Given the description of an element on the screen output the (x, y) to click on. 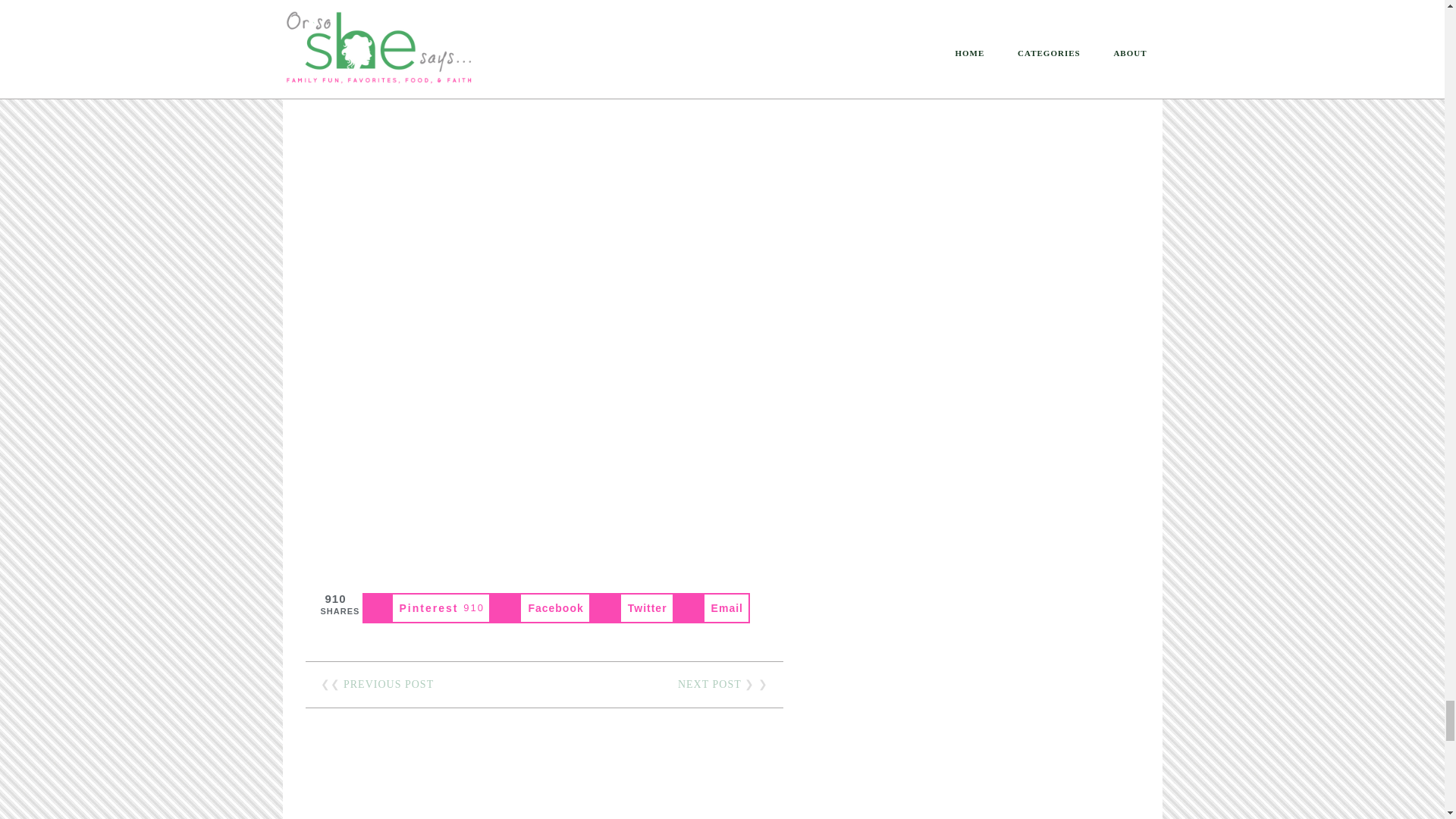
Send over email (711, 607)
Share on Facebook (539, 607)
Share on X (632, 607)
Save to Pinterest (427, 607)
